Given the description of an element on the screen output the (x, y) to click on. 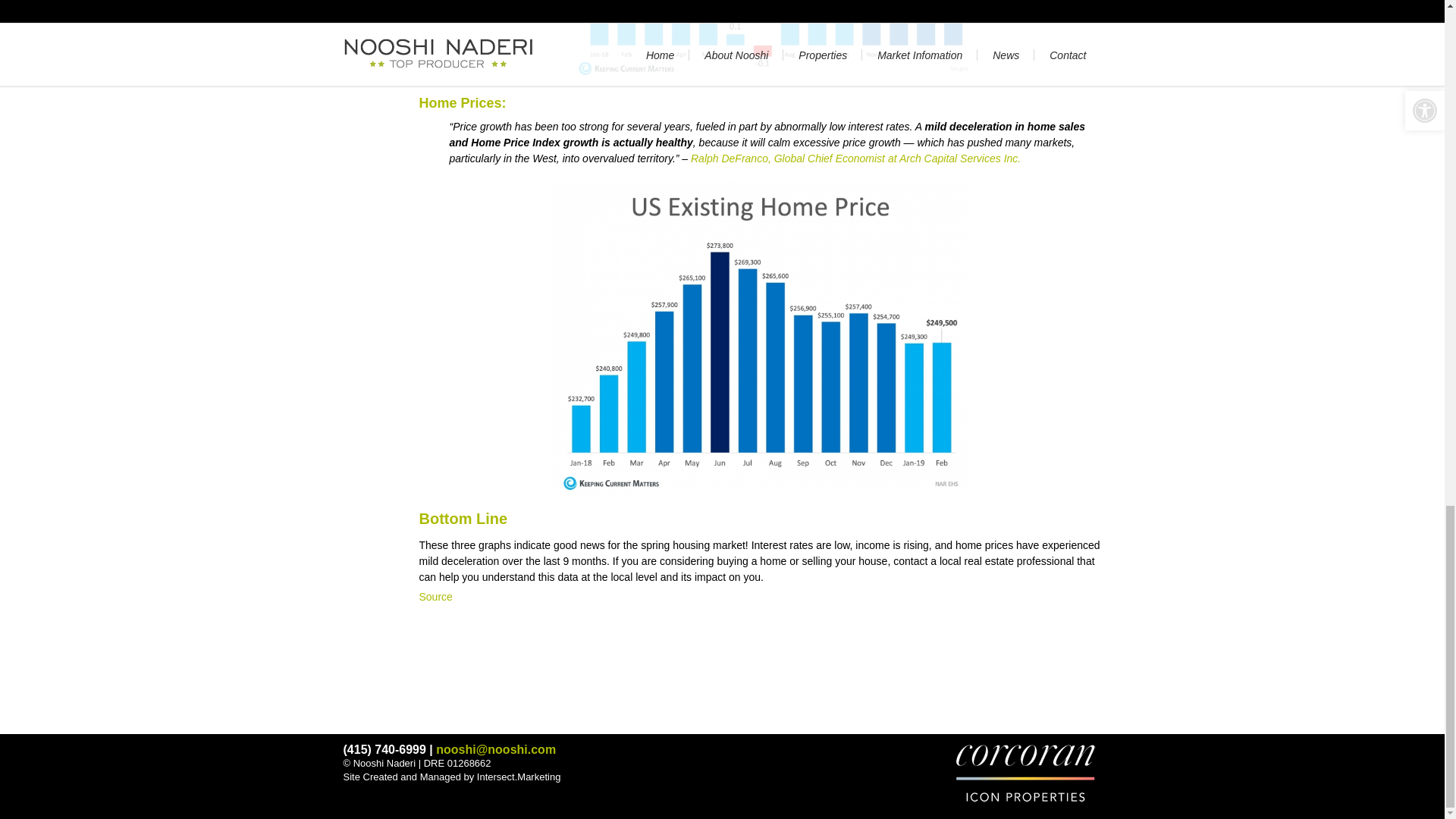
Source (435, 595)
Intersect.Marketing (518, 776)
